Given the description of an element on the screen output the (x, y) to click on. 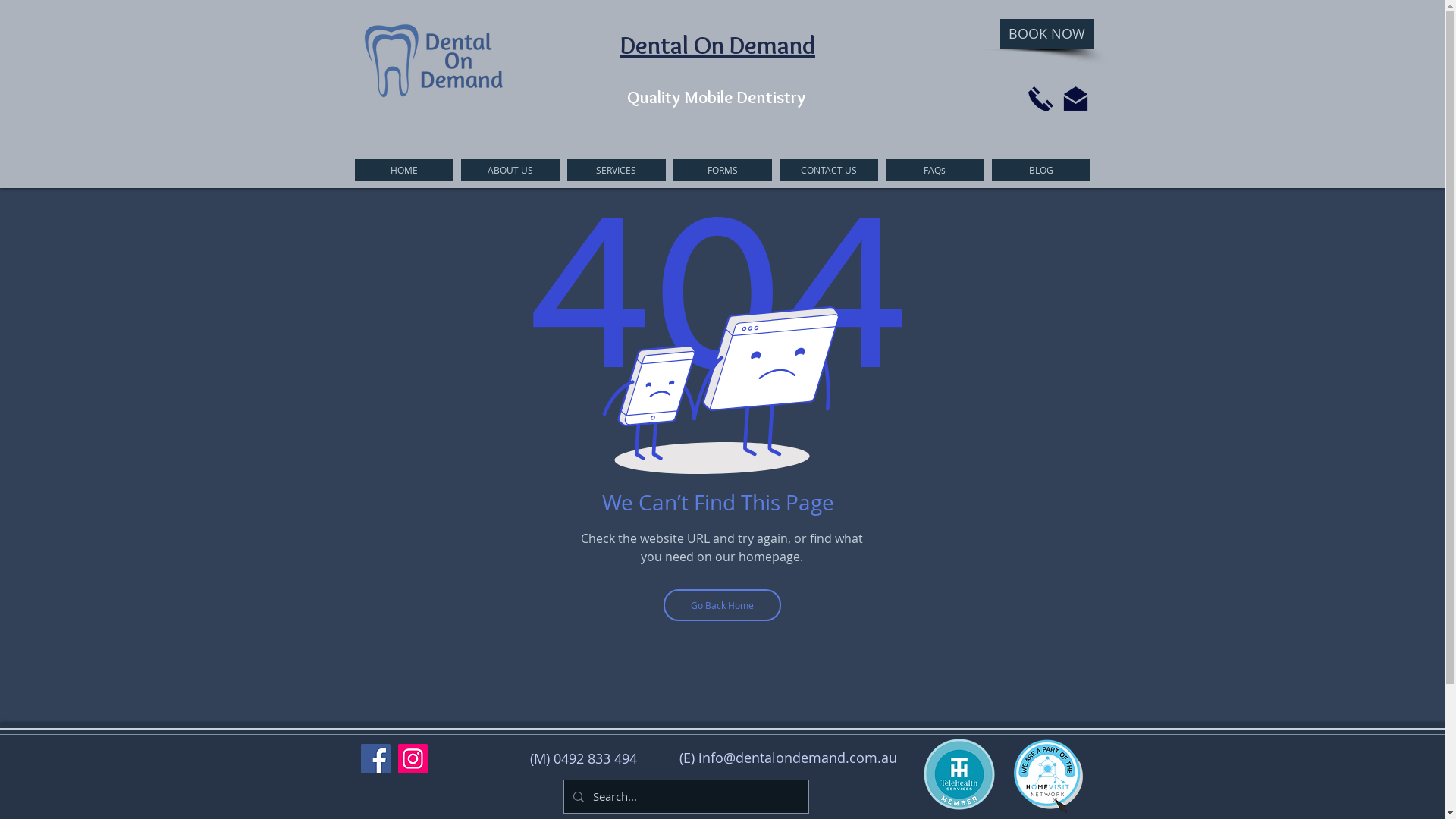
HOME Element type: text (403, 170)
FORMS Element type: text (722, 170)
Dental On Demand Element type: text (717, 44)
Go Back Home Element type: text (721, 605)
CONTACT US Element type: text (828, 170)
FAQs Element type: text (934, 170)
(M) 0492 833 494 Element type: text (583, 758)
Quality Mobile Dentistry Element type: text (715, 96)
ABOUT US Element type: text (510, 170)
(E) info@dentalondemand.com.au Element type: text (788, 758)
SERVICES Element type: text (616, 170)
BLOG Element type: text (1040, 170)
BOOK NOW Element type: text (1046, 33)
